Given the description of an element on the screen output the (x, y) to click on. 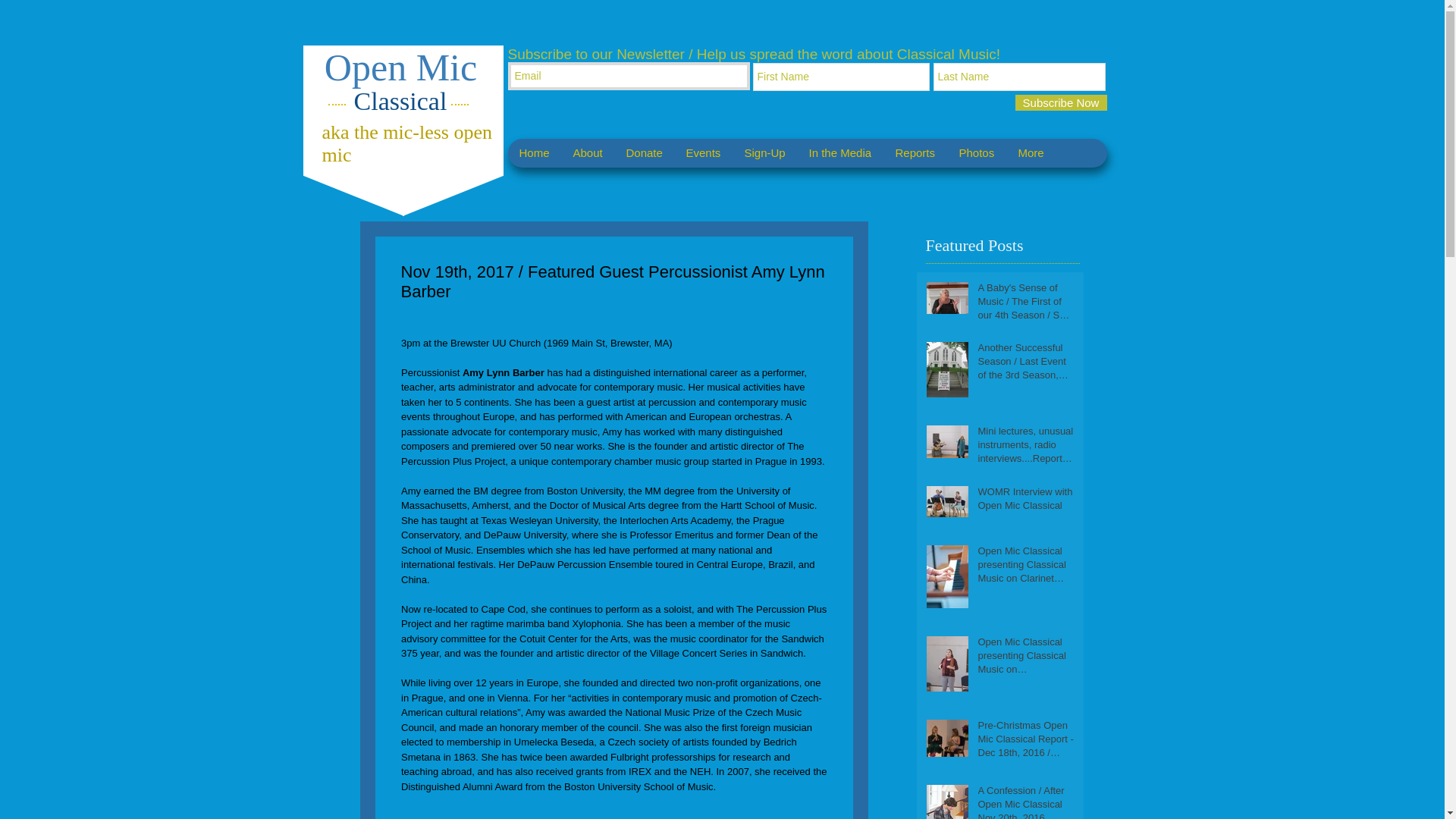
Subscribe Now (1060, 102)
Events (702, 152)
WOMR Interview with Open Mic Classical (1026, 501)
Home (534, 152)
About (587, 152)
Donate (644, 152)
Sign-Up (764, 152)
In the Media (839, 152)
Reports (914, 152)
Photos (976, 152)
